Given the description of an element on the screen output the (x, y) to click on. 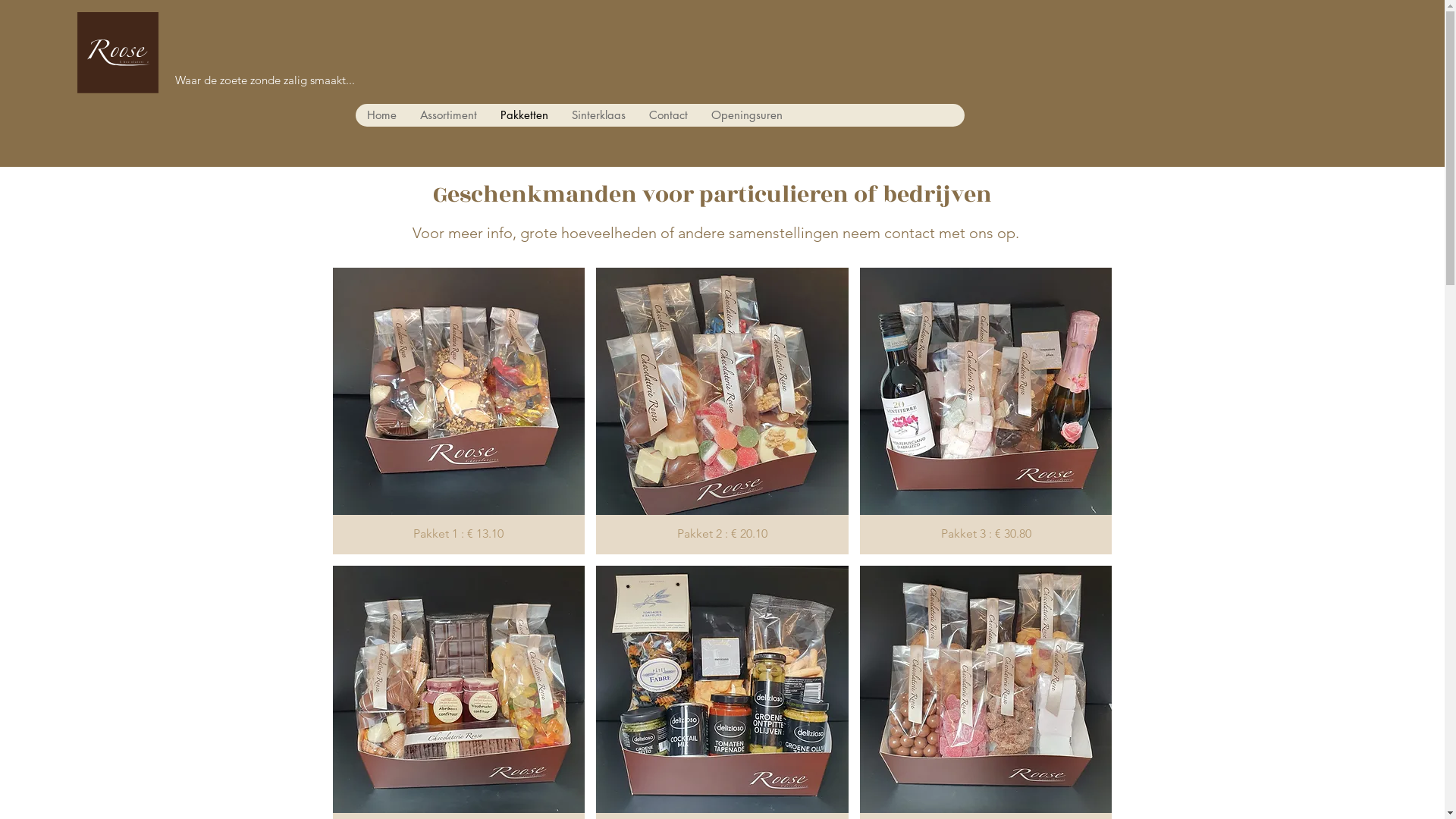
Pakketten Element type: text (523, 114)
Chocolaterie Element type: text (117, 69)
Contact Element type: text (668, 114)
Openingsuren Element type: text (746, 114)
Home Element type: text (380, 114)
Sinterklaas Element type: text (598, 114)
